Given the description of an element on the screen output the (x, y) to click on. 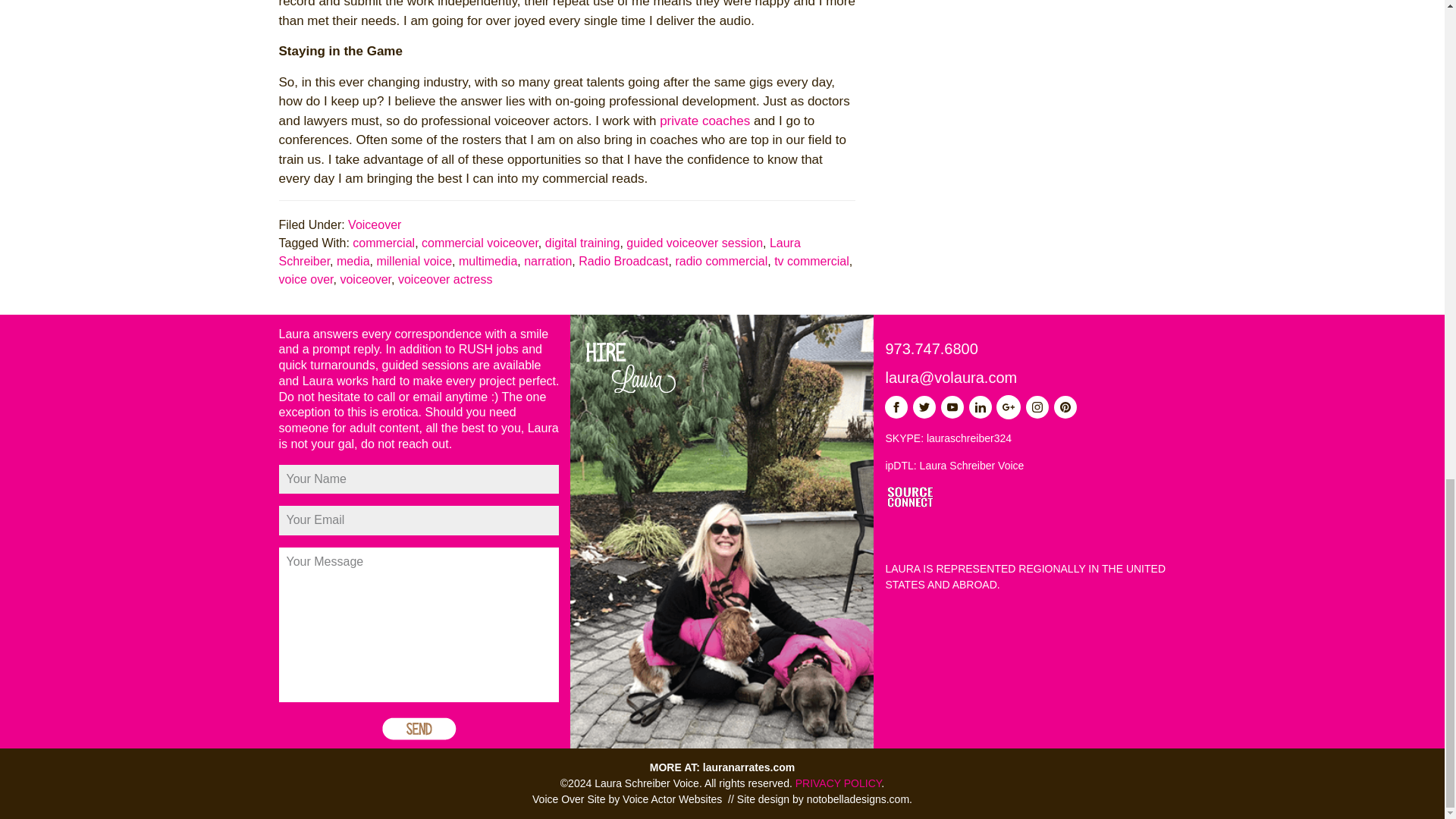
facebook (896, 406)
